Given the description of an element on the screen output the (x, y) to click on. 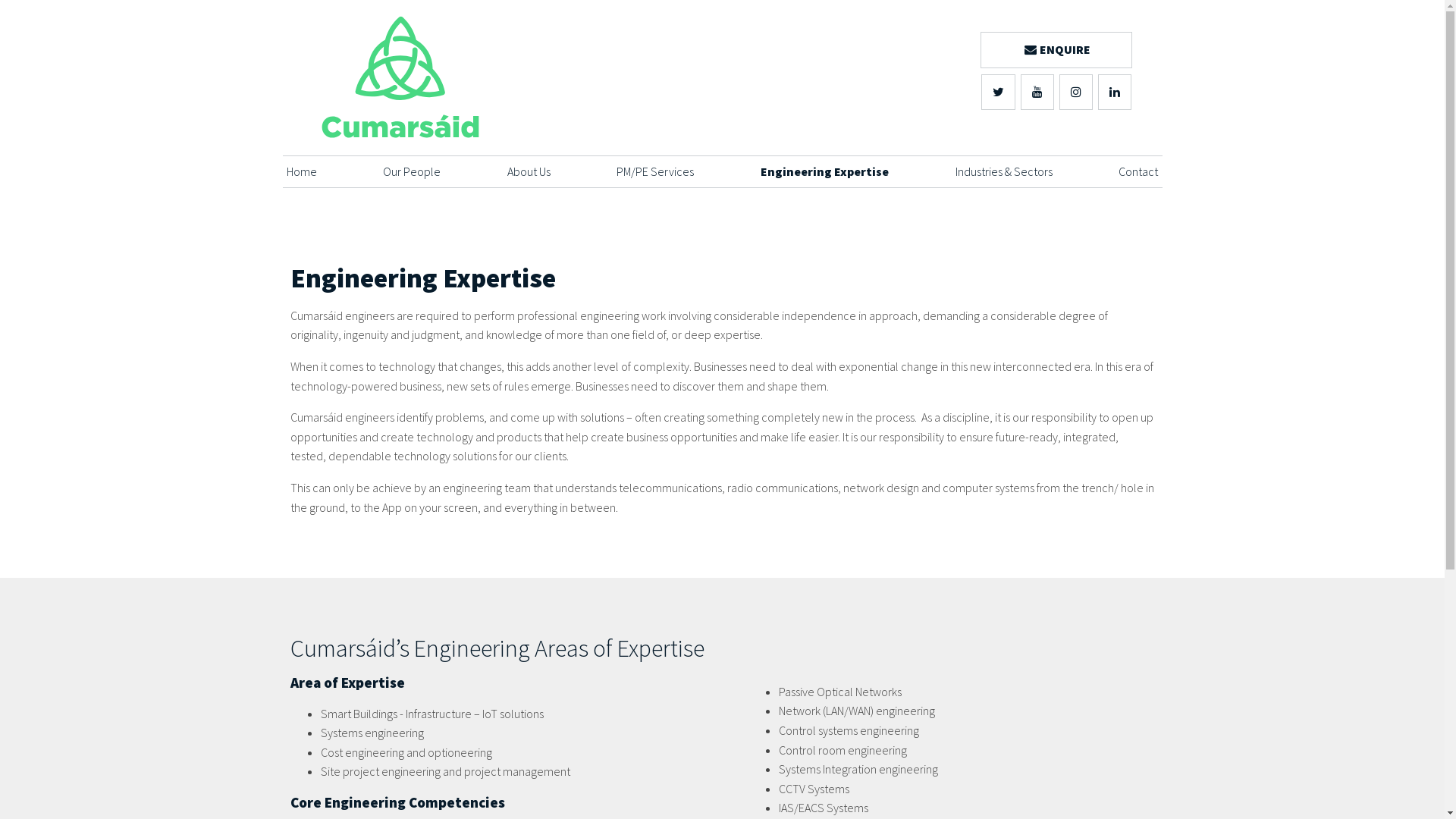
Engineering Expertise Element type: text (824, 171)
Industries & Sectors Element type: text (1003, 171)
Our People Element type: text (411, 171)
ENQUIRE Element type: text (1055, 49)
Home Element type: text (301, 171)
PM/PE Services Element type: text (654, 171)
Contact Element type: text (1137, 171)
About Us Element type: text (528, 171)
